Given the description of an element on the screen output the (x, y) to click on. 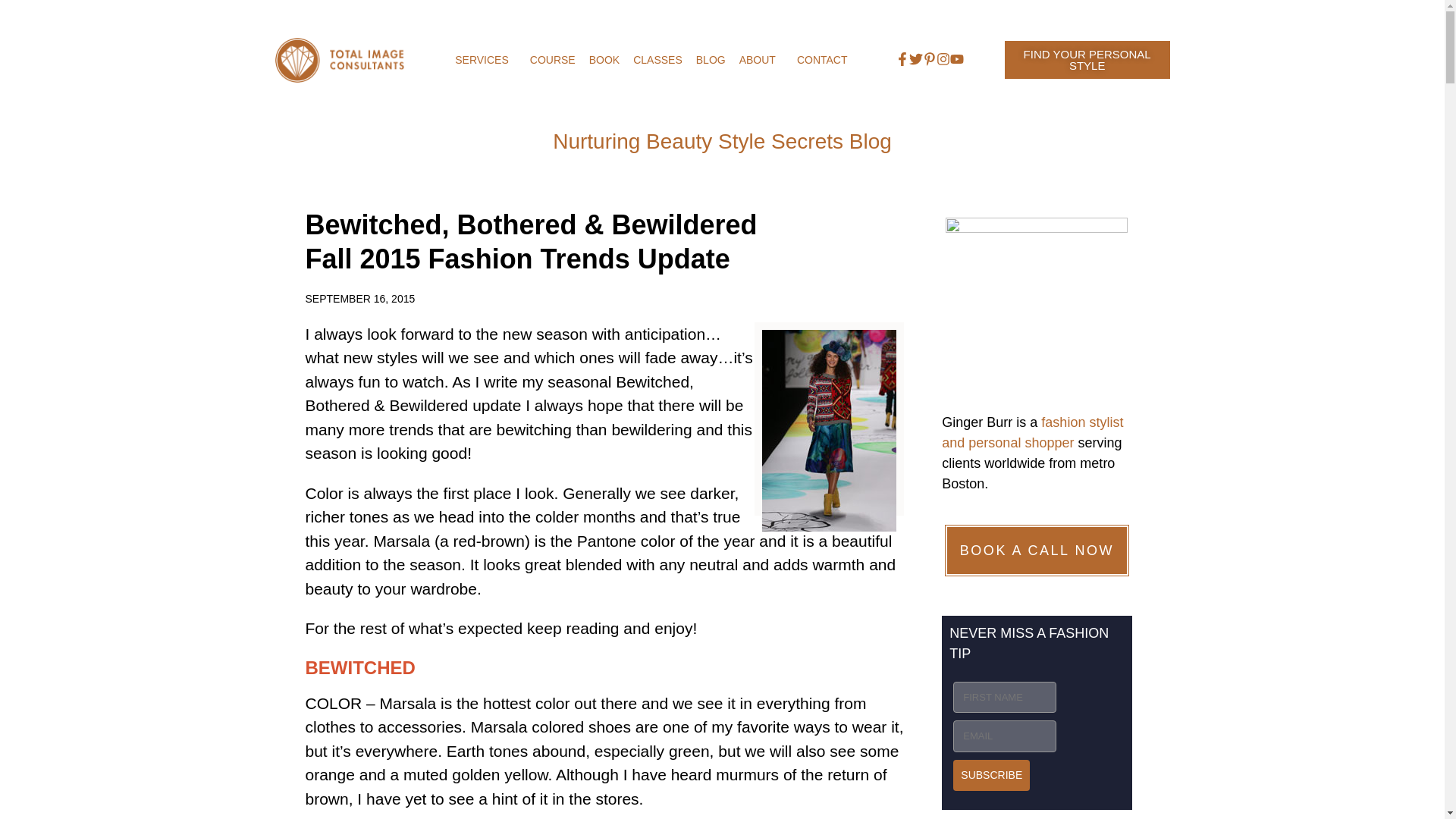
ABOUT (761, 59)
CONTACT (822, 59)
BOOK (604, 59)
FIND YOUR PERSONAL STYLE (1087, 59)
SERVICES (485, 59)
COURSE (552, 59)
CLASSES (657, 59)
BLOG (710, 59)
